Given the description of an element on the screen output the (x, y) to click on. 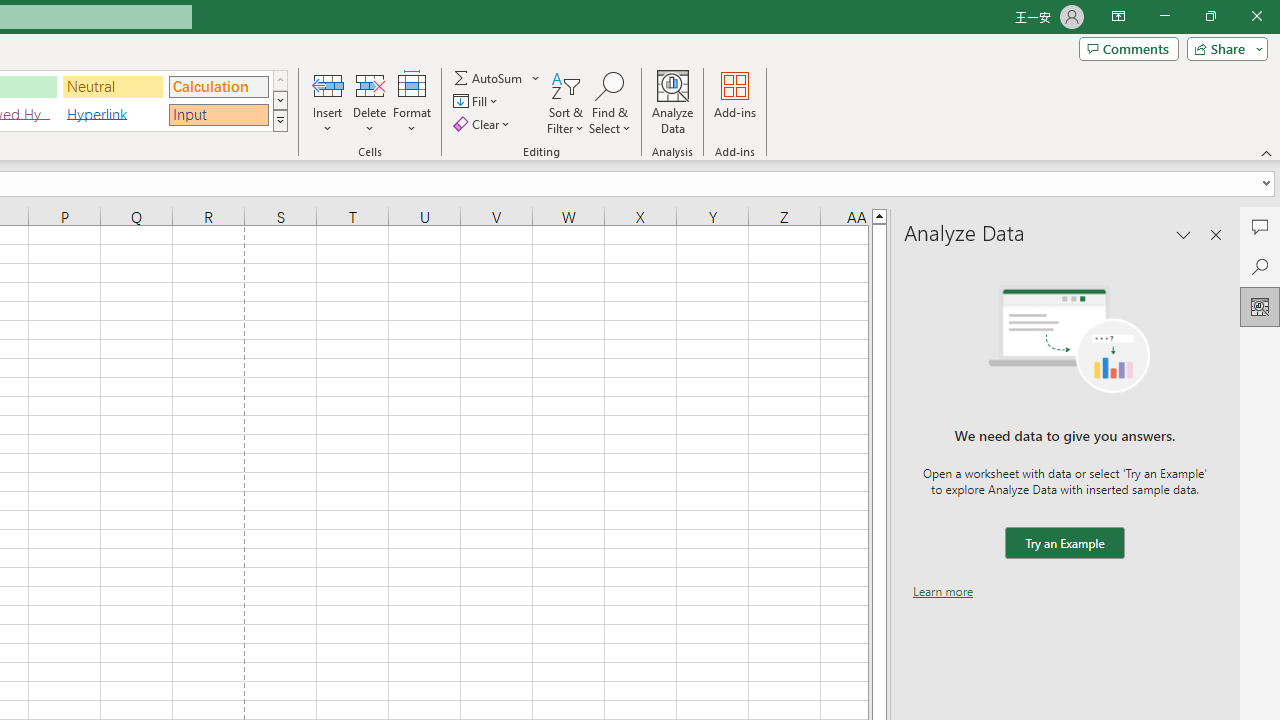
Format (411, 102)
Calculation (218, 86)
Learn more (943, 591)
Delete (369, 102)
Sort & Filter (566, 102)
AutoSum (497, 78)
